Given the description of an element on the screen output the (x, y) to click on. 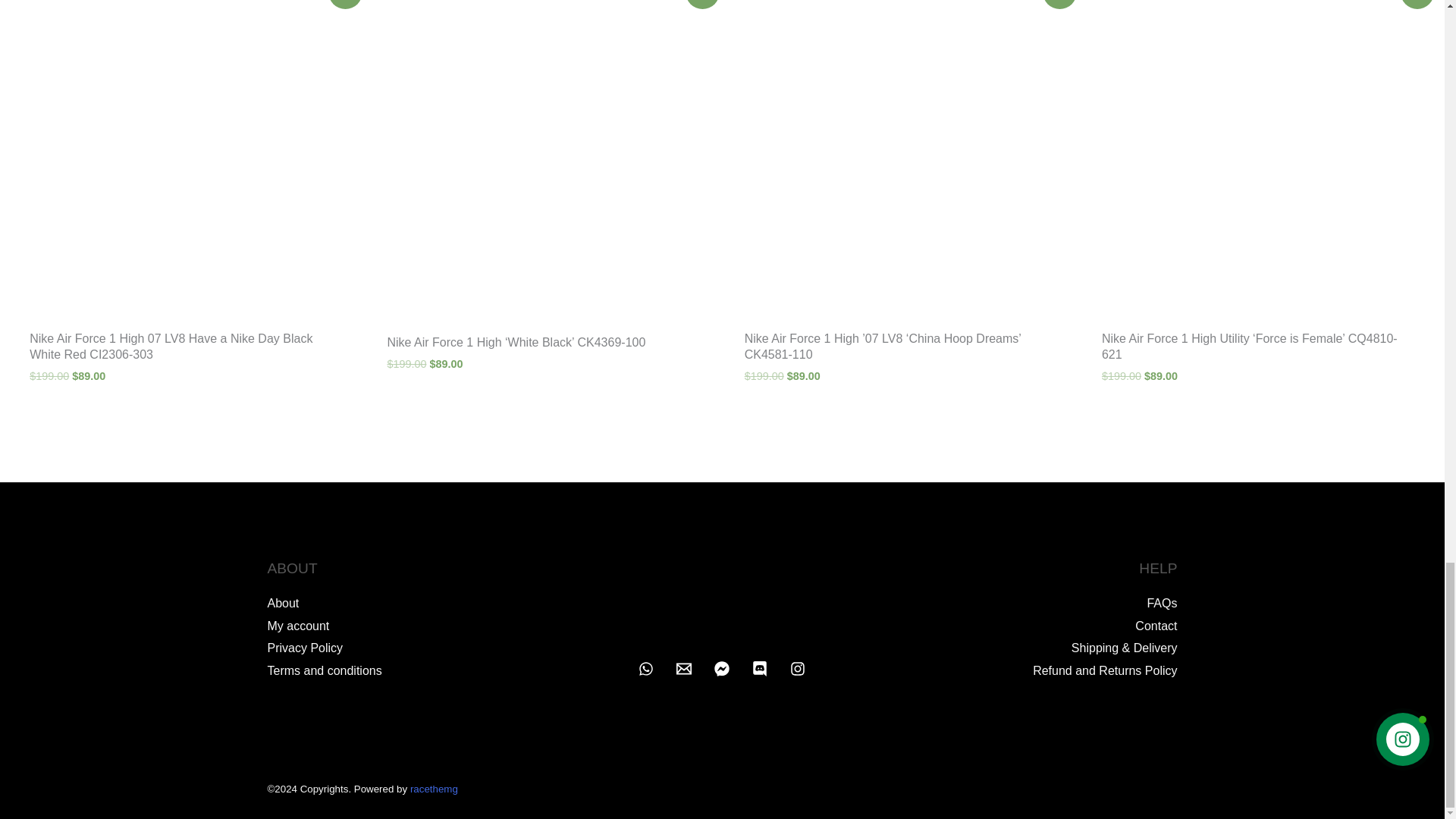
Converse Chuck Taylor Animal Print Suede High Tops - 165611C (722, 603)
